Given the description of an element on the screen output the (x, y) to click on. 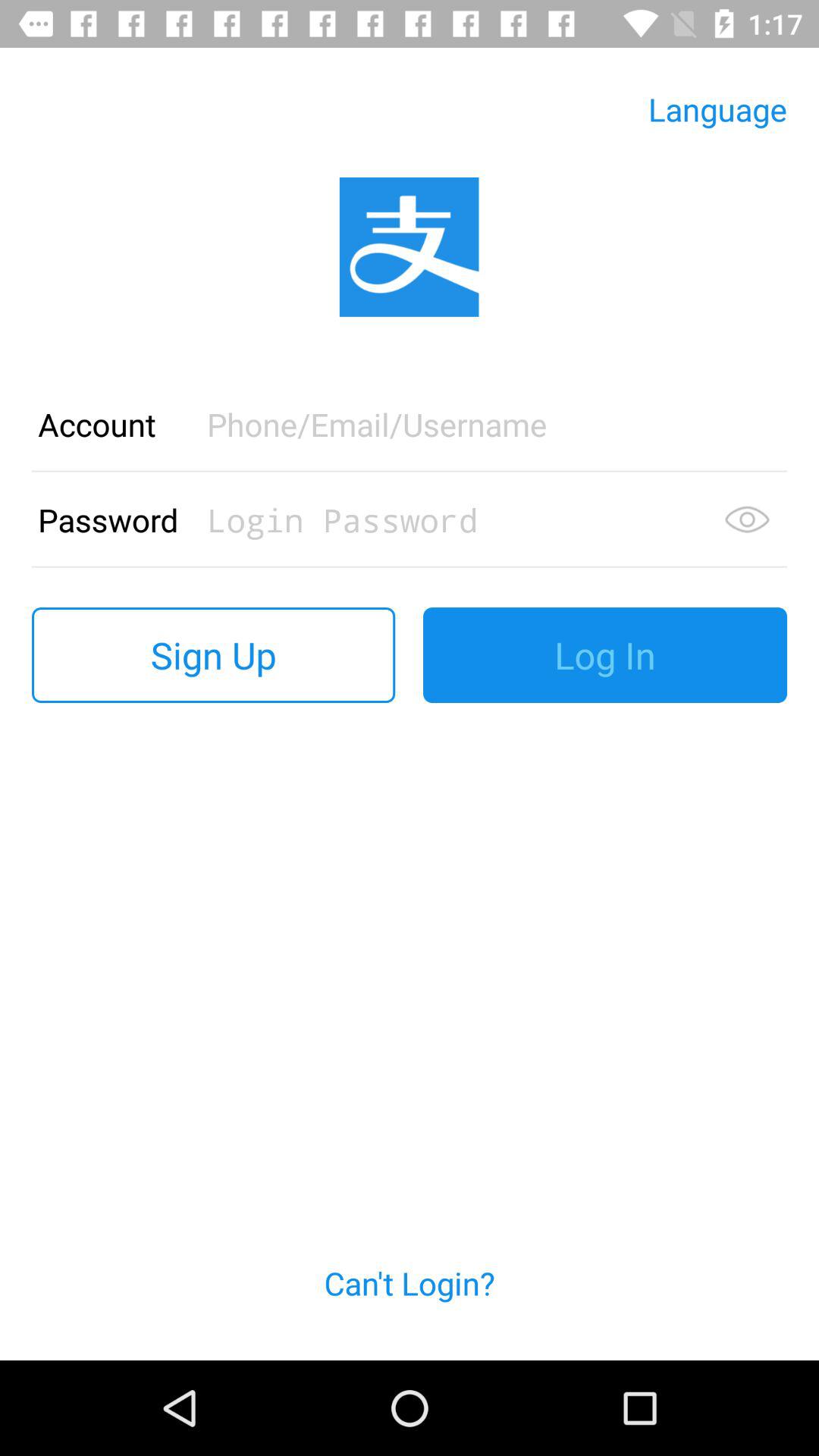
open the item below password icon (213, 654)
